Given the description of an element on the screen output the (x, y) to click on. 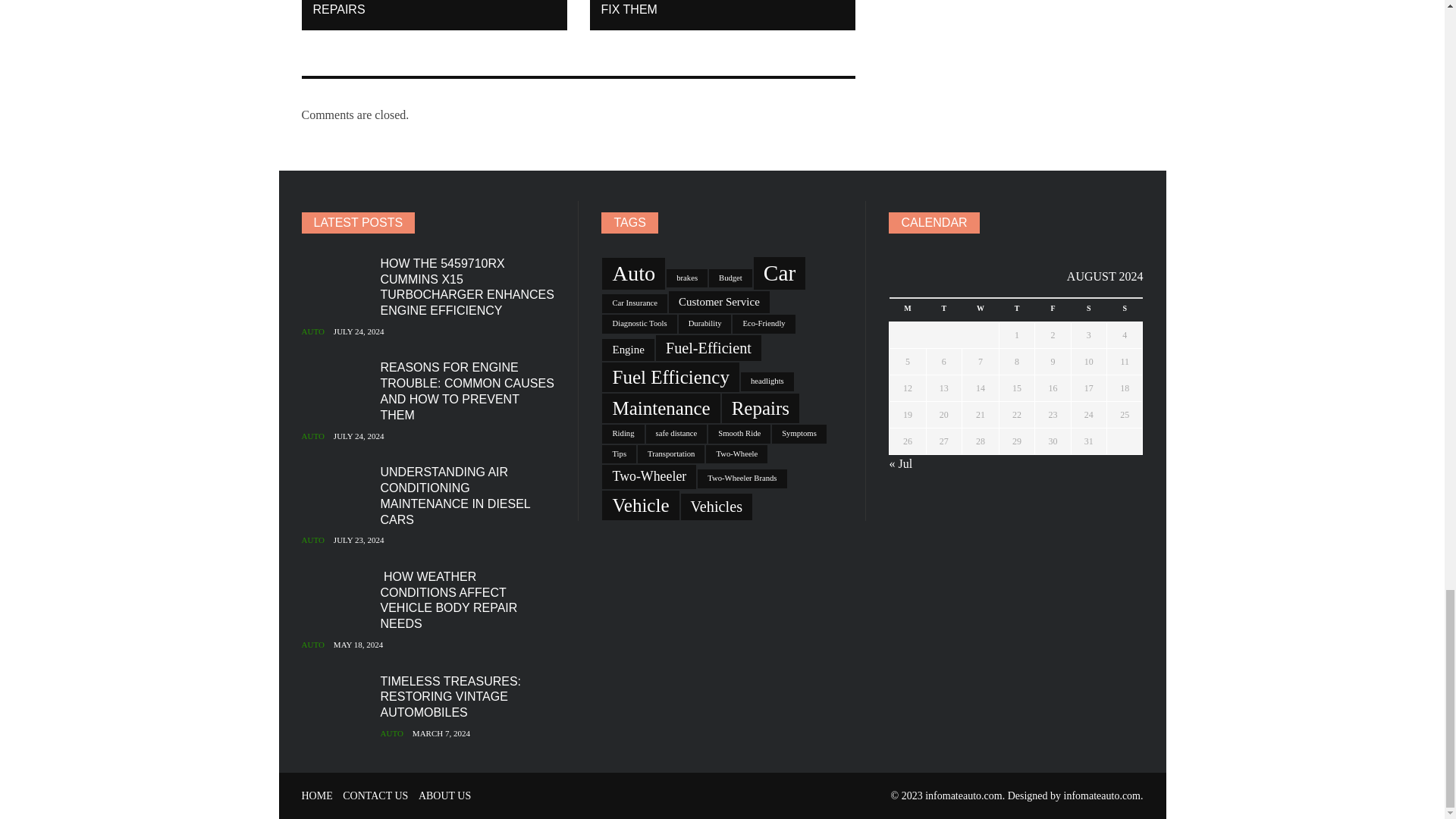
Monday (907, 310)
Friday (1052, 310)
Sunday (1124, 310)
Thursday (1015, 310)
Tuesday (943, 310)
Saturday (1088, 310)
Wednesday (979, 310)
